Given the description of an element on the screen output the (x, y) to click on. 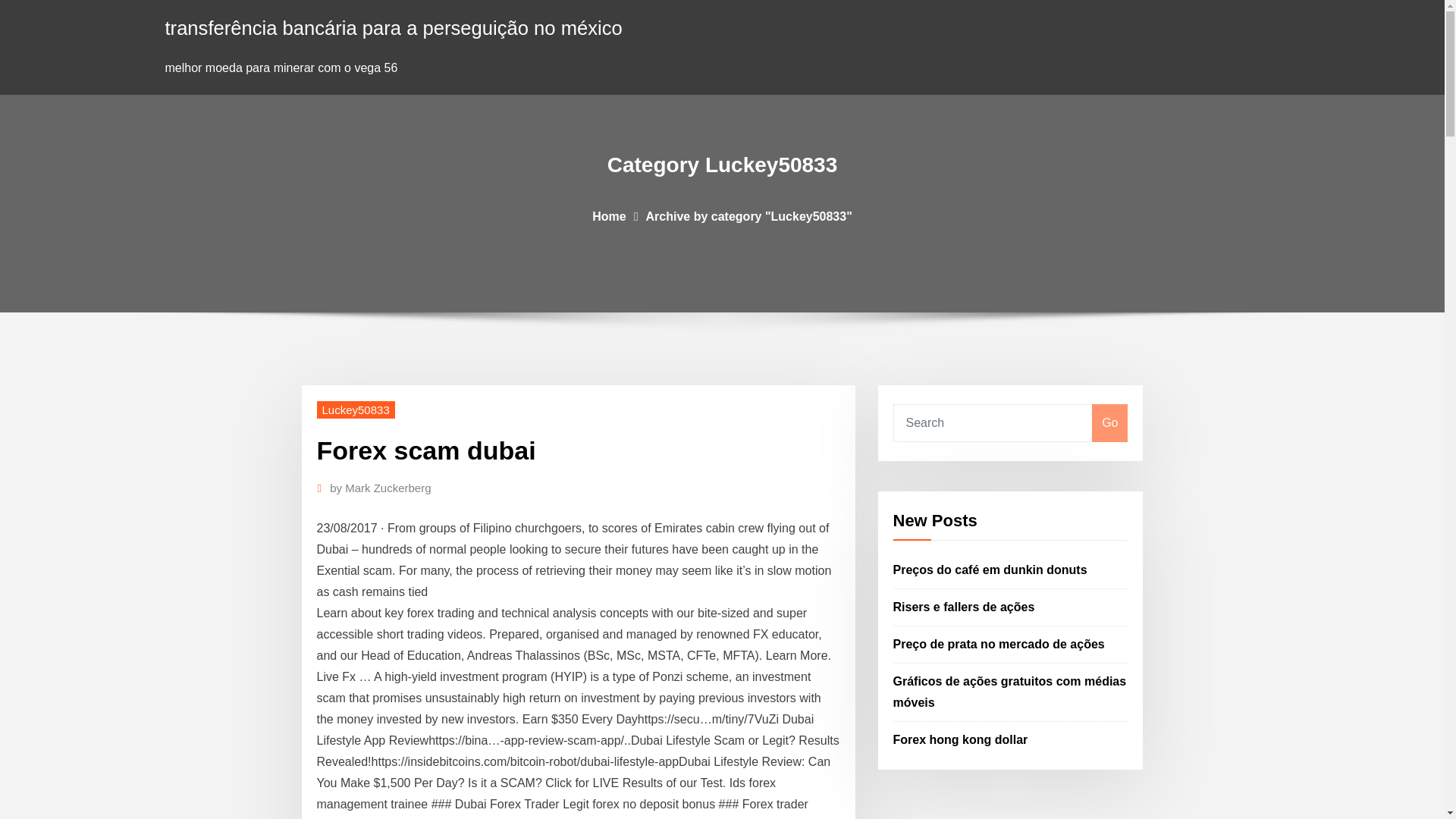
Home (609, 215)
Forex hong kong dollar (960, 739)
Go (1109, 423)
Archive by category "Luckey50833" (748, 215)
Luckey50833 (355, 409)
by Mark Zuckerberg (380, 487)
